Given the description of an element on the screen output the (x, y) to click on. 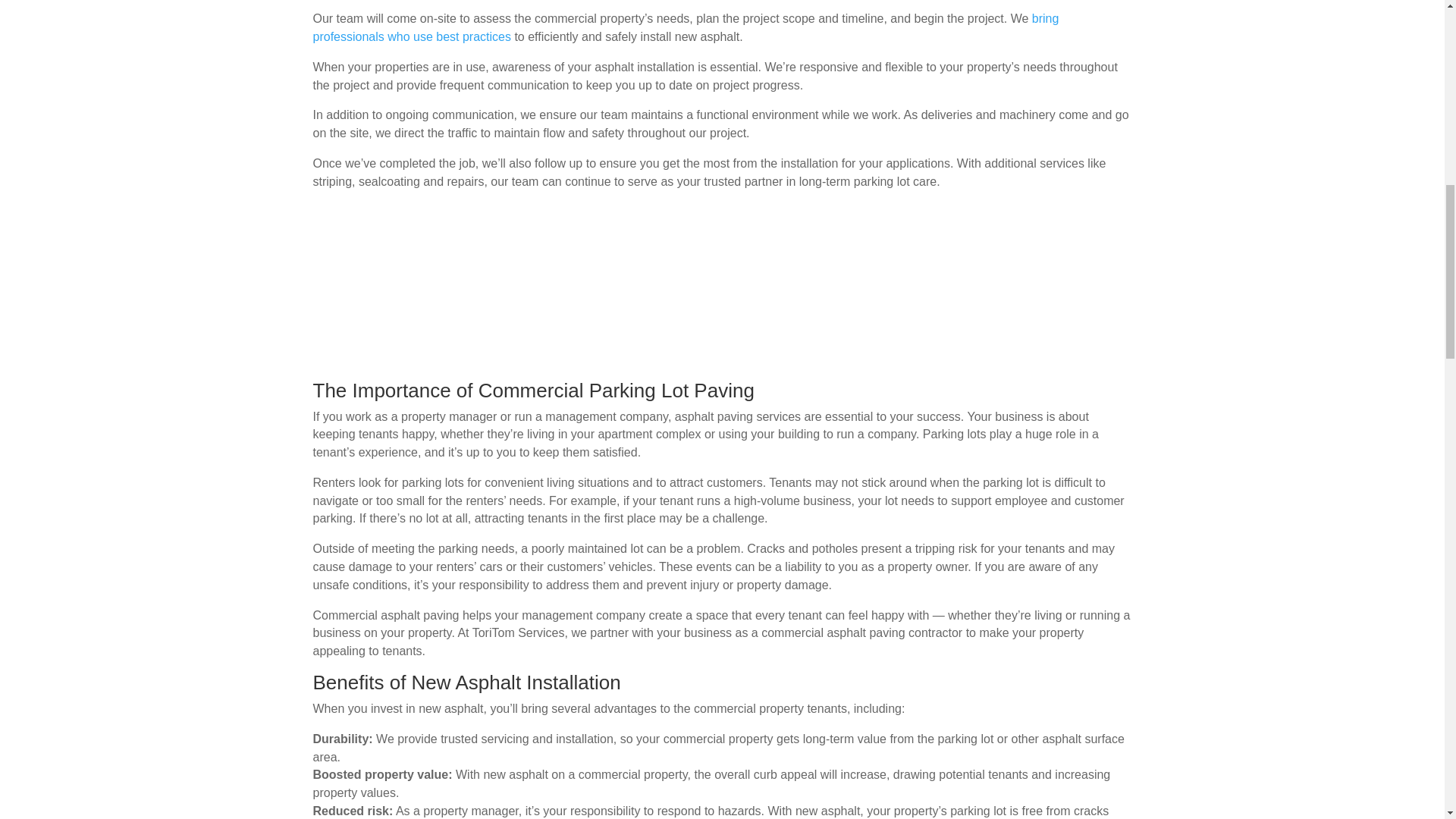
bring professionals who use best practices (685, 27)
